Given the description of an element on the screen output the (x, y) to click on. 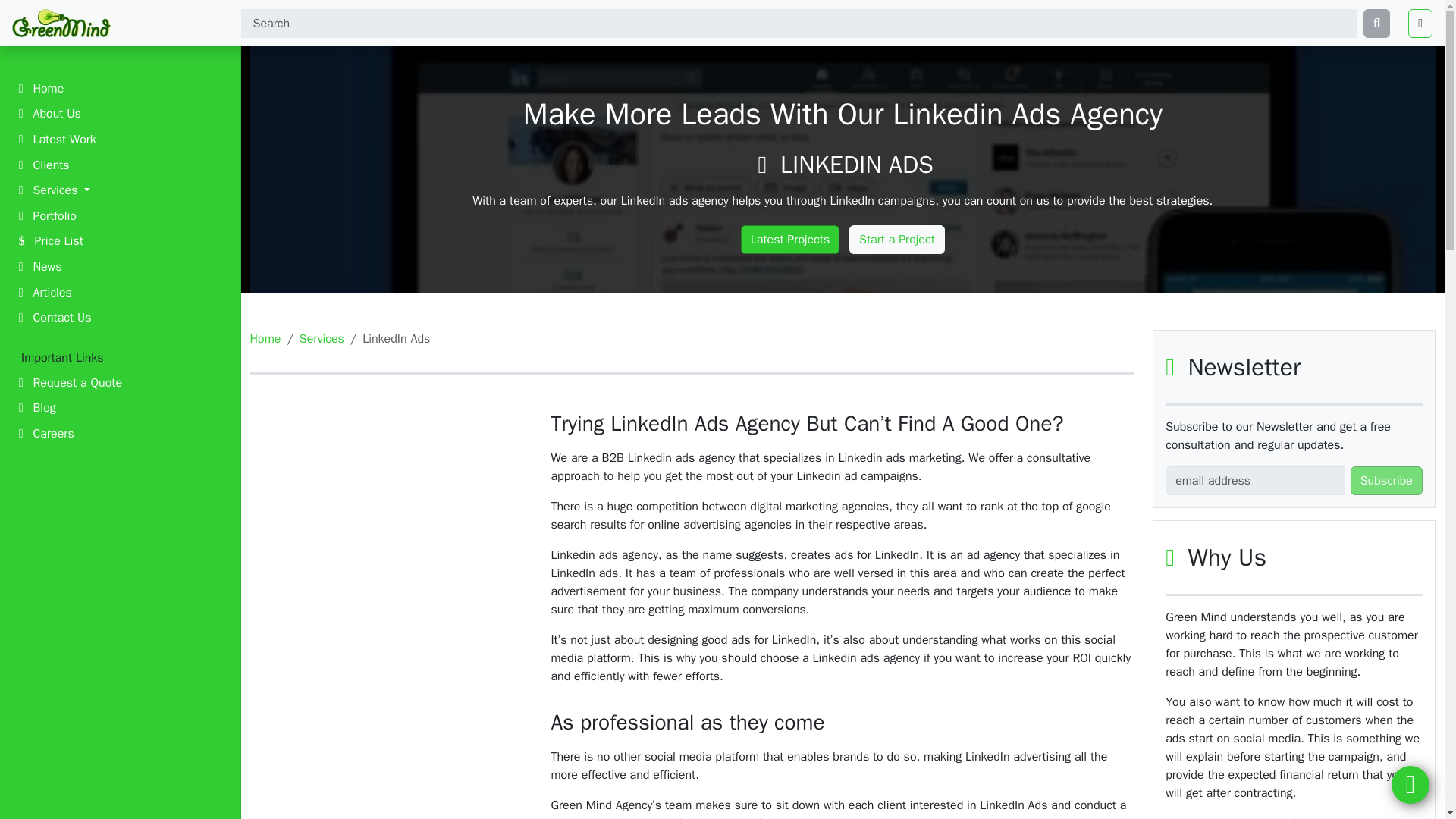
Latest Work (119, 139)
About Us (119, 114)
Subscribe (1386, 480)
Services (119, 190)
Clients (119, 165)
Home (119, 88)
Search For (799, 23)
Portfolio (119, 216)
